Given the description of an element on the screen output the (x, y) to click on. 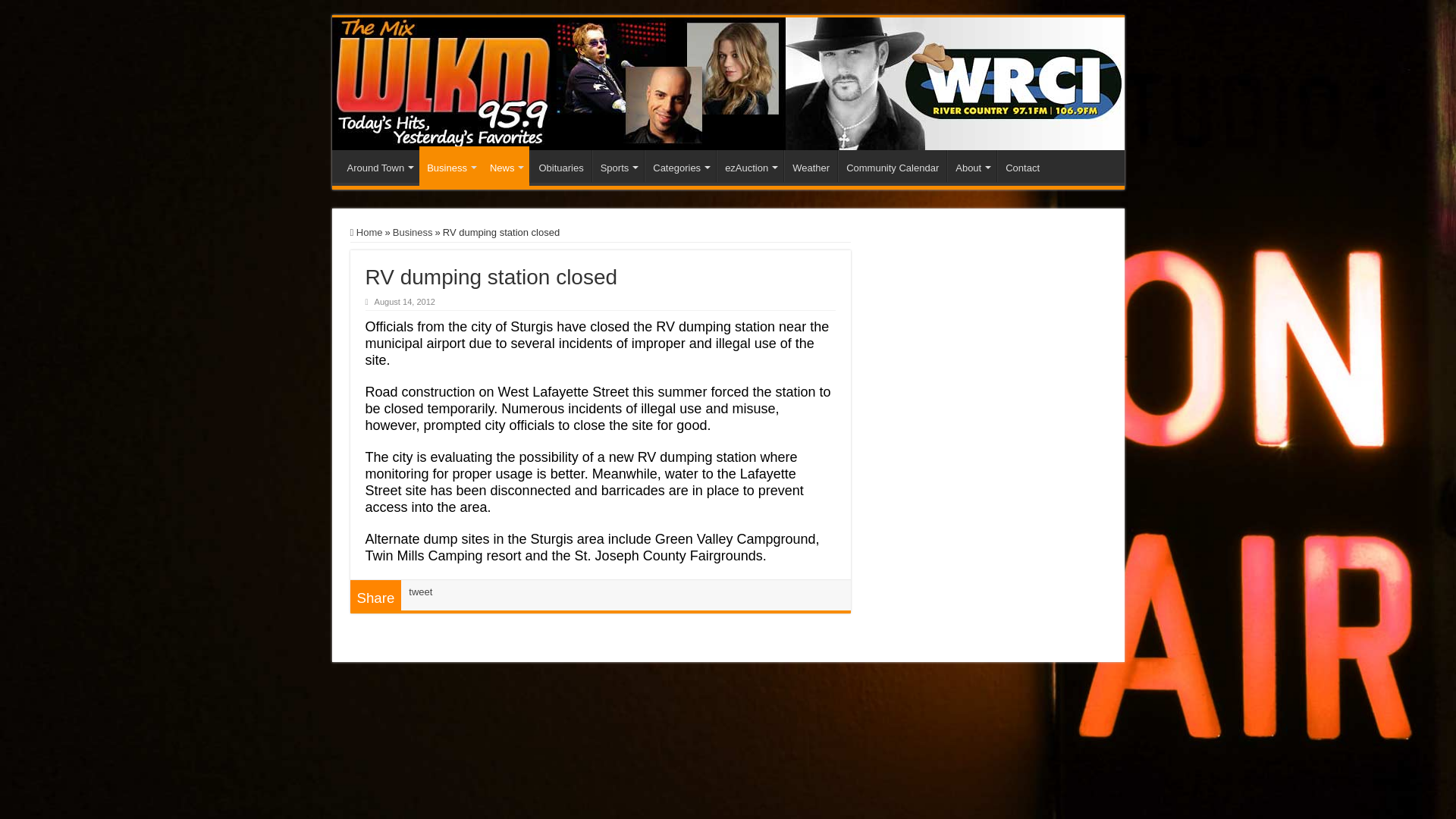
Business (450, 165)
News (505, 165)
Categories (680, 165)
Obituaries (560, 165)
Sports (618, 165)
WLKM Radio 95.9 FM (727, 83)
Around Town (379, 165)
